Given the description of an element on the screen output the (x, y) to click on. 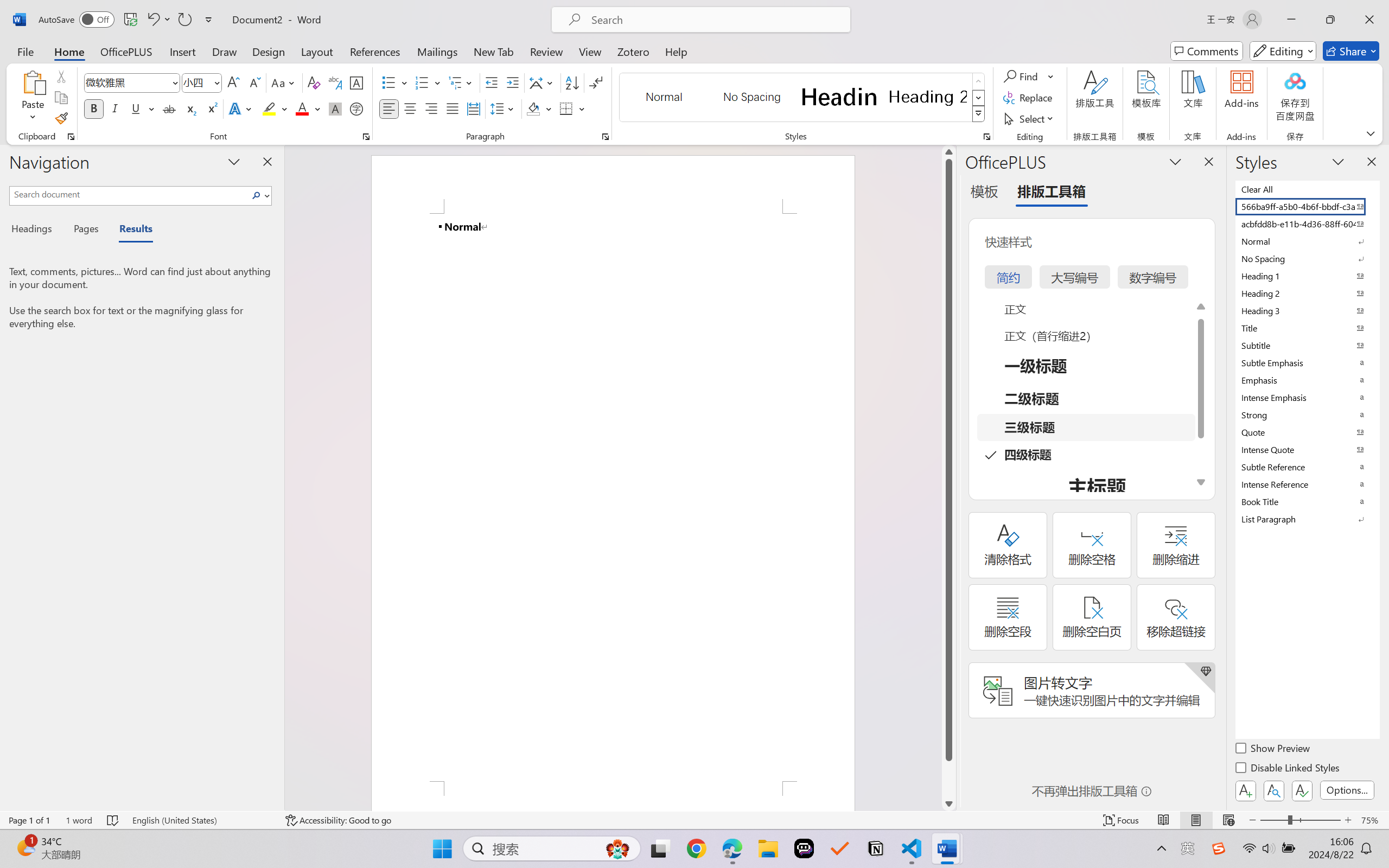
Restore Down (1330, 19)
Page down (948, 778)
Font Color (308, 108)
Spelling and Grammar Check No Errors (113, 819)
References (375, 51)
Book Title (1306, 501)
Line up (948, 151)
Find (1029, 75)
Mode (1283, 50)
Enclose Characters... (356, 108)
Shrink Font (253, 82)
Close (1369, 19)
